Given the description of an element on the screen output the (x, y) to click on. 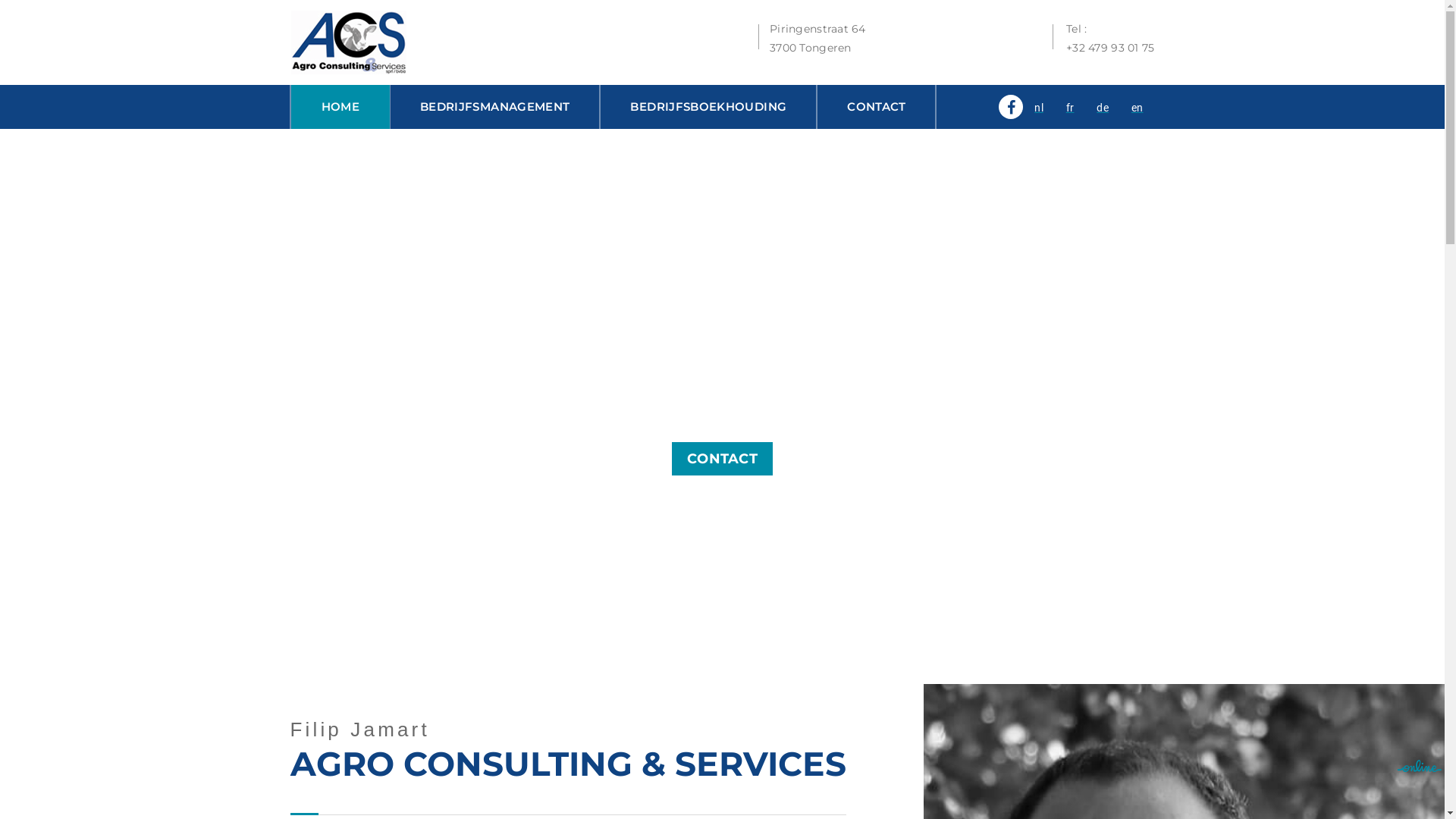
CONTACT Element type: text (876, 106)
de Element type: text (1102, 107)
nl Element type: text (1038, 107)
HOME Element type: text (340, 106)
en Element type: text (1137, 107)
fr Element type: text (1069, 107)
BEDRIJFSBOEKHOUDING Element type: text (707, 106)
Agro Consulting & Services - Agrarische consulting Element type: hover (347, 41)
CONTACT Element type: text (721, 458)
BEDRIJFSMANAGEMENT Element type: text (494, 106)
